Given the description of an element on the screen output the (x, y) to click on. 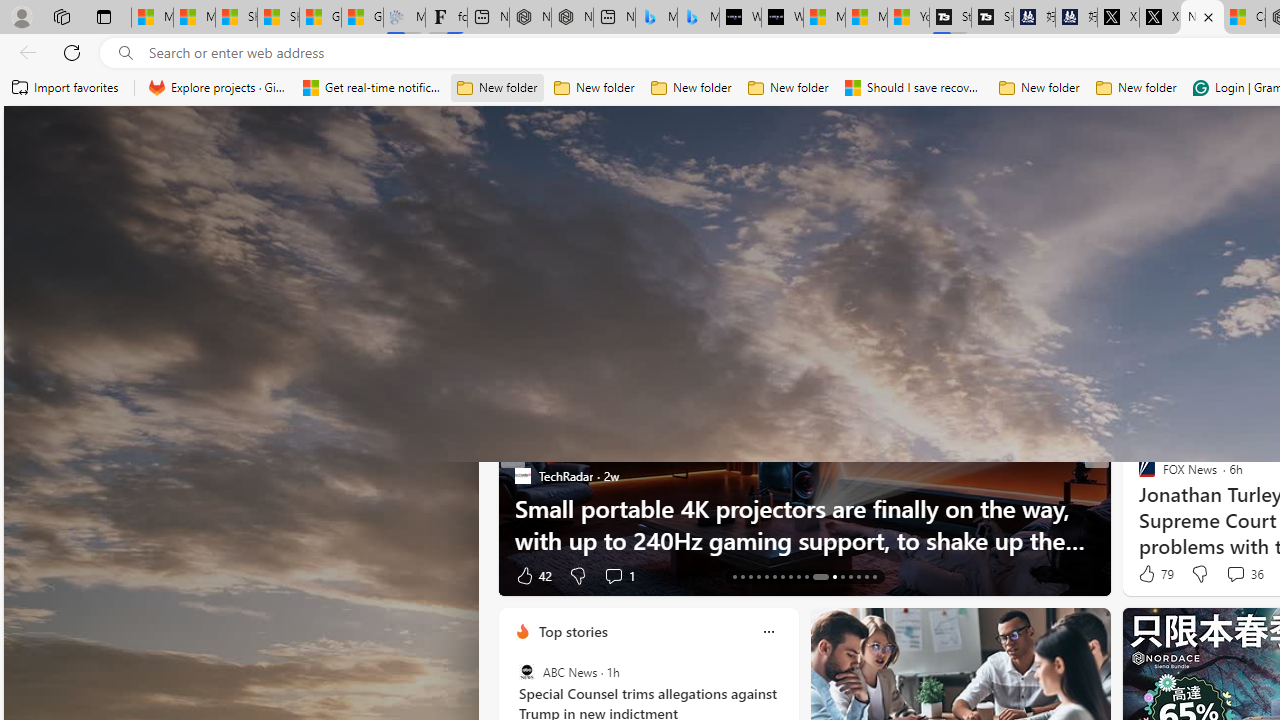
View comments 17 Comment (1244, 574)
Learning (1159, 265)
Microsoft Start (866, 17)
AutomationID: tab-14 (742, 576)
Planning to Organize (1138, 475)
AutomationID: tab-22 (806, 576)
News (701, 267)
View comments 1 Comment (613, 575)
View comments 1 Comment (618, 574)
This story is trending (449, 579)
Dislike (1199, 574)
View comments 334 Comment (11, 575)
New tab (1201, 17)
